Given the description of an element on the screen output the (x, y) to click on. 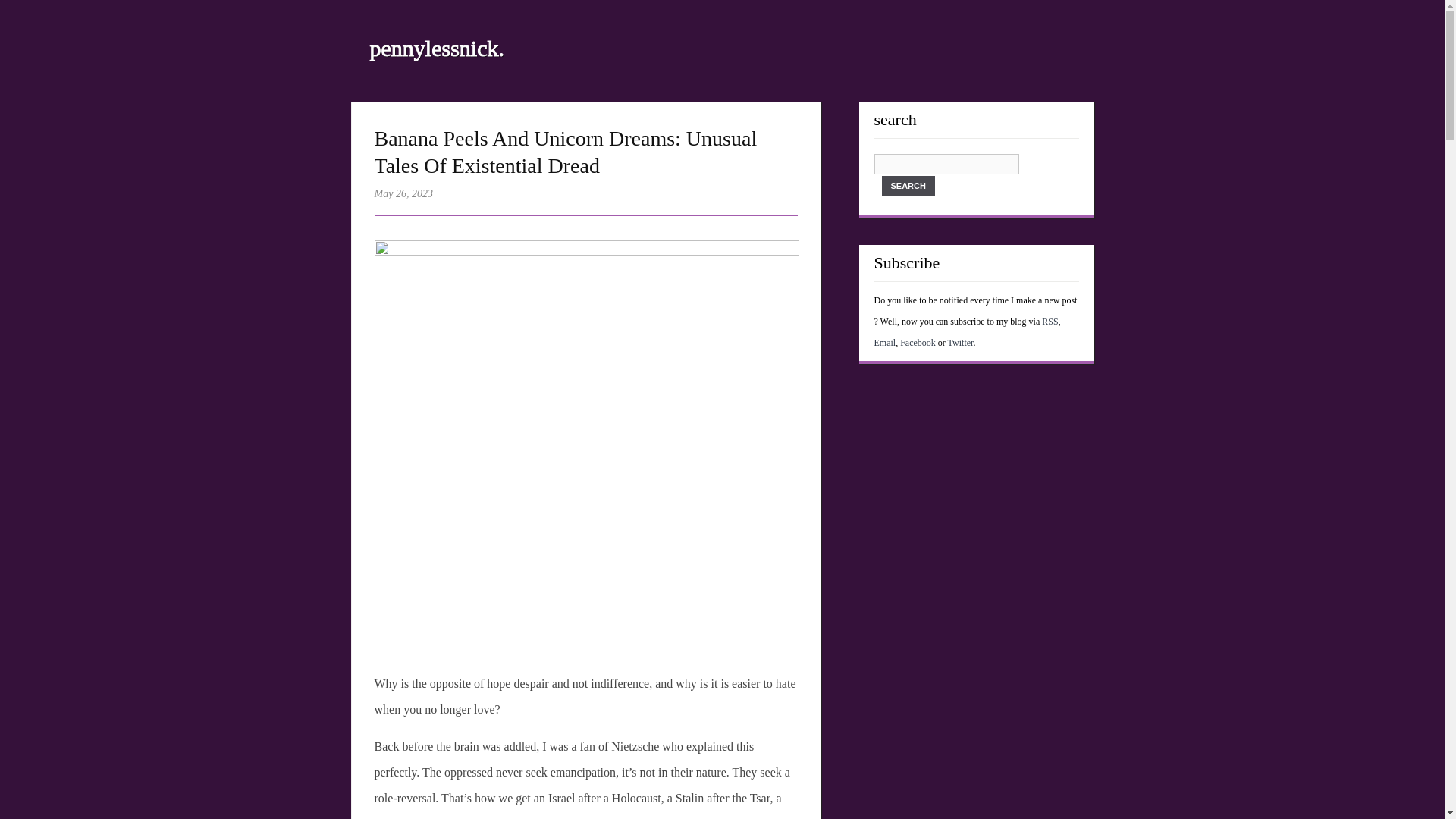
Email (884, 342)
Search (907, 185)
pennylessnick. (436, 48)
Search (907, 185)
RSS (1050, 321)
Facebook (917, 342)
Twitter (960, 342)
